Given the description of an element on the screen output the (x, y) to click on. 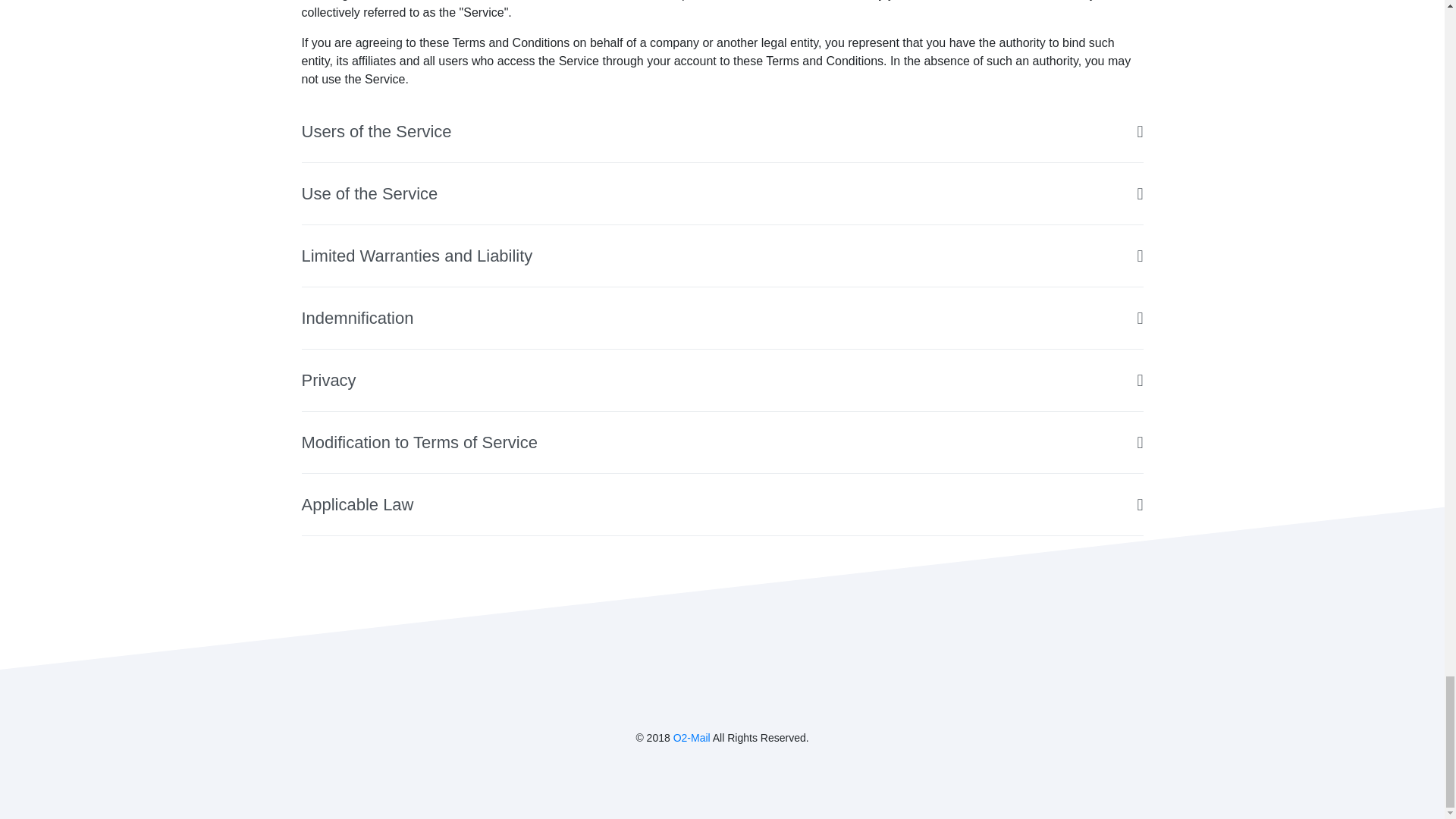
Applicable Law (721, 505)
Users of the Service (721, 131)
Limited Warranties and Liability (721, 256)
Modification to Terms of Service (721, 442)
Privacy (721, 380)
O2-Mail (691, 737)
Indemnification (721, 318)
Use of the Service (721, 193)
